Given the description of an element on the screen output the (x, y) to click on. 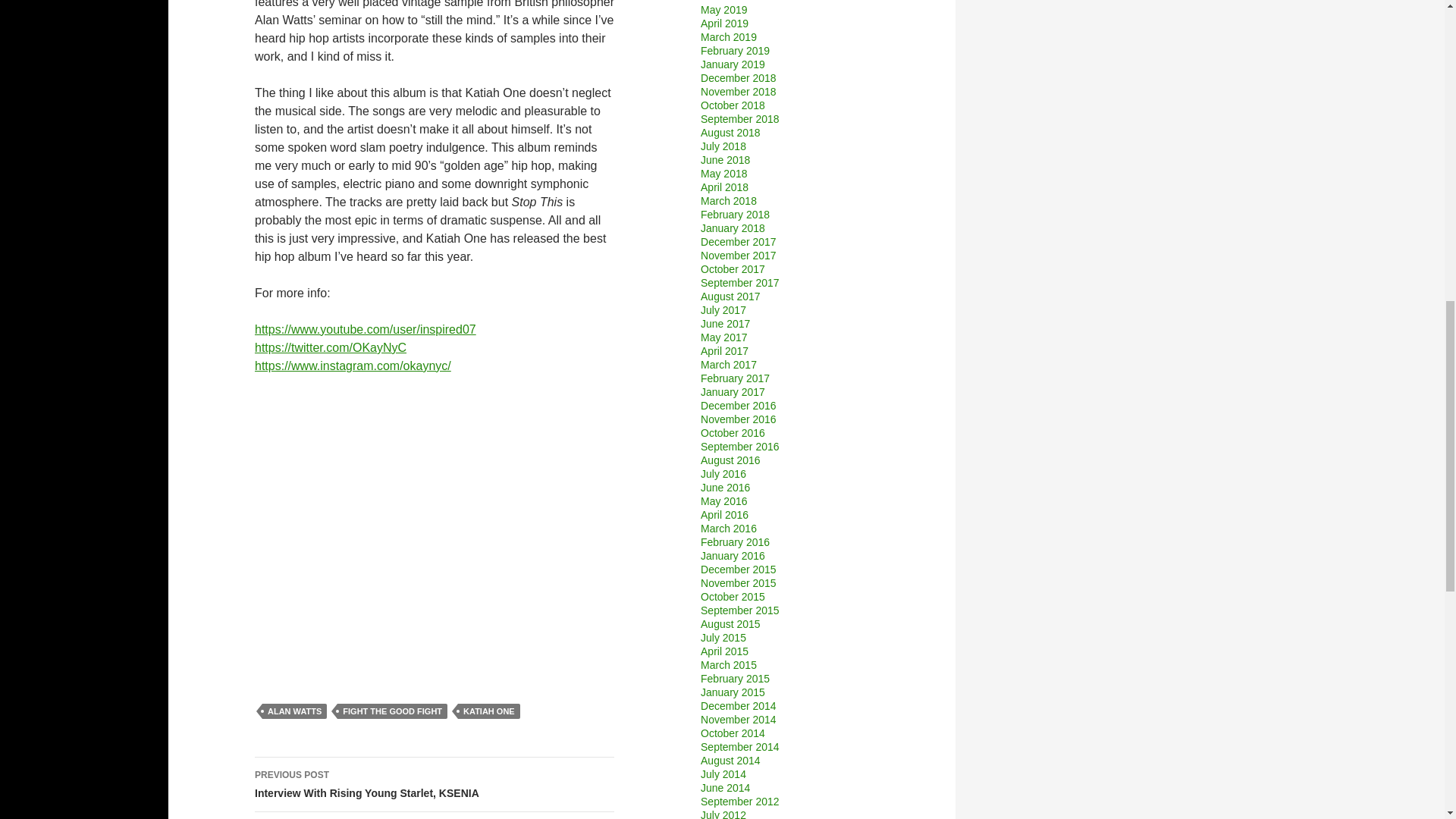
KATIAH ONE (488, 711)
Spotify Embed: Fight The Good Fight (434, 784)
FIGHT THE GOOD FIGHT (434, 526)
ALAN WATTS (391, 711)
